Given the description of an element on the screen output the (x, y) to click on. 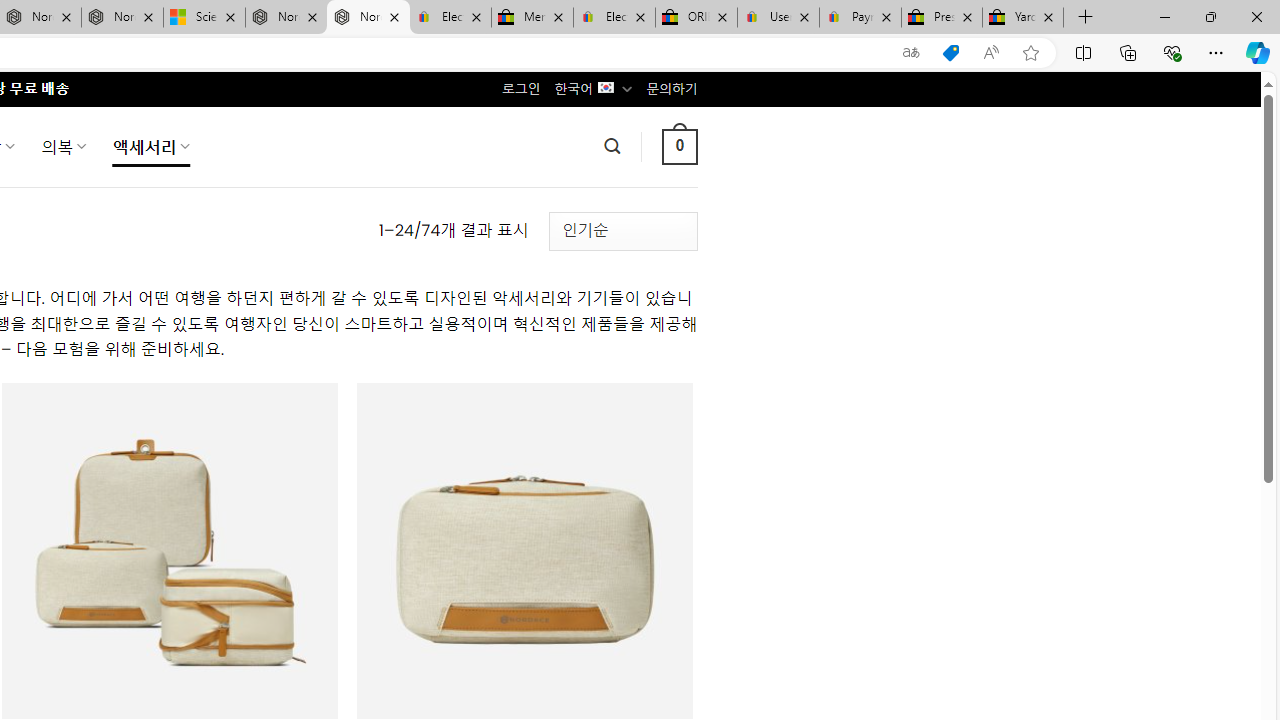
User Privacy Notice | eBay (778, 17)
Show translate options (910, 53)
Yard, Garden & Outdoor Living (1023, 17)
  0   (679, 146)
